Given the description of an element on the screen output the (x, y) to click on. 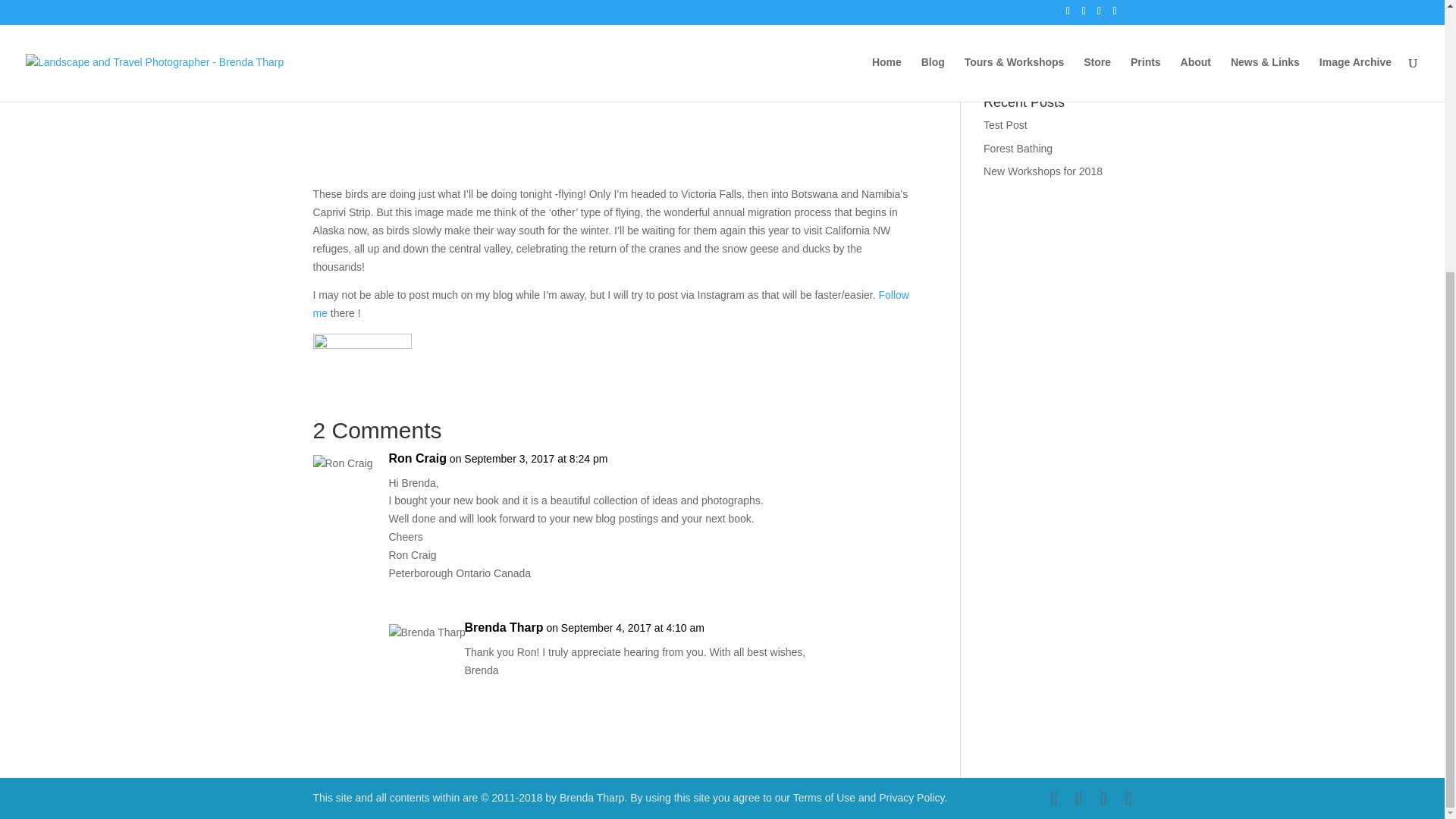
New Workshops for 2018 (1043, 171)
Forest Bathing (1018, 148)
Follow me (610, 304)
Ron Craig (416, 458)
Test Post (1005, 124)
Brenda Tharp (503, 628)
